Given the description of an element on the screen output the (x, y) to click on. 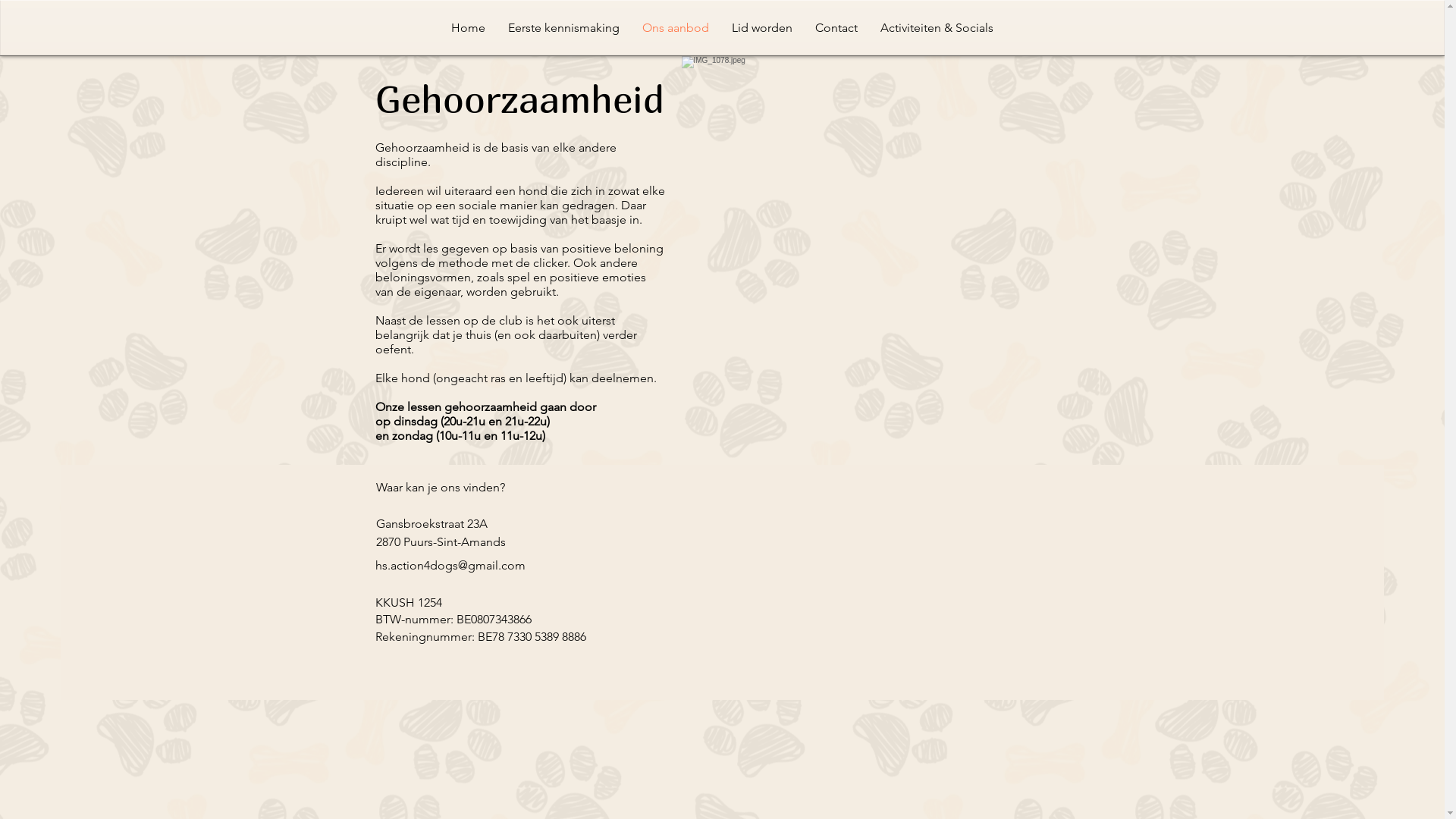
Contact Element type: text (836, 27)
Lid worden Element type: text (761, 27)
hs.action4dogs@gmail.com Element type: text (449, 565)
Eerste kennismaking Element type: text (563, 27)
Google Maps Element type: hover (790, 566)
Home Element type: text (467, 27)
Ons aanbod Element type: text (675, 27)
Activiteiten & Socials Element type: text (936, 27)
